Given the description of an element on the screen output the (x, y) to click on. 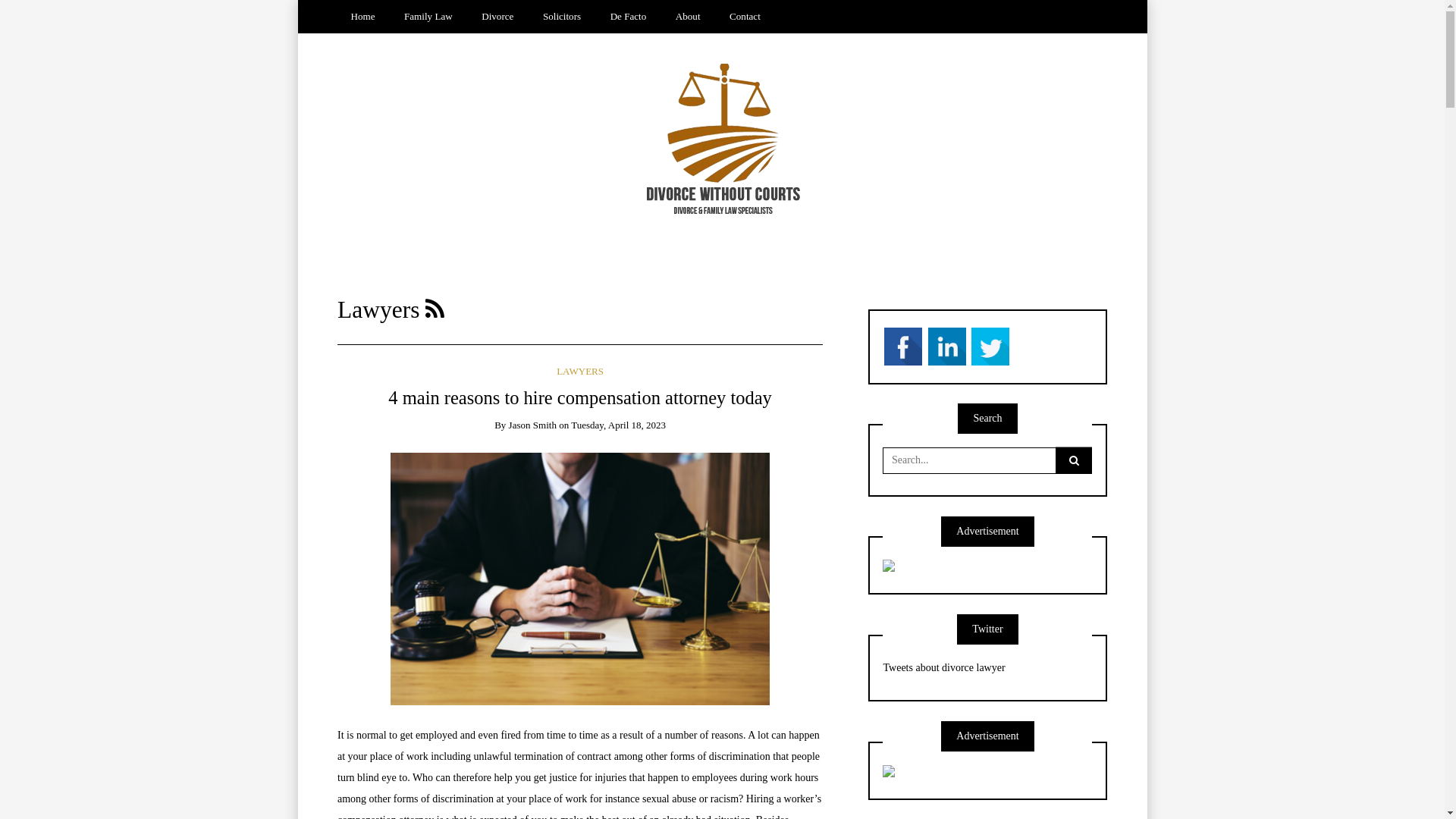
Search Element type: text (31, 14)
Tuesday, April 18, 2023 Element type: text (618, 424)
Facebook Element type: hover (903, 345)
Divorce Element type: text (497, 16)
Solicitors Element type: text (561, 16)
Feed Subscription Element type: hover (434, 309)
Contact Element type: text (745, 16)
Family Law Element type: text (428, 16)
About Element type: text (687, 16)
Jason Smith Element type: text (532, 424)
De Facto Element type: text (627, 16)
Home Element type: text (362, 16)
4 main reasons to hire compensation attorney today Element type: text (579, 397)
LAWYERS Element type: text (579, 370)
Linkedin Element type: hover (947, 345)
Twitter Element type: hover (990, 345)
Tweets about divorce lawyer Element type: text (943, 667)
